Given the description of an element on the screen output the (x, y) to click on. 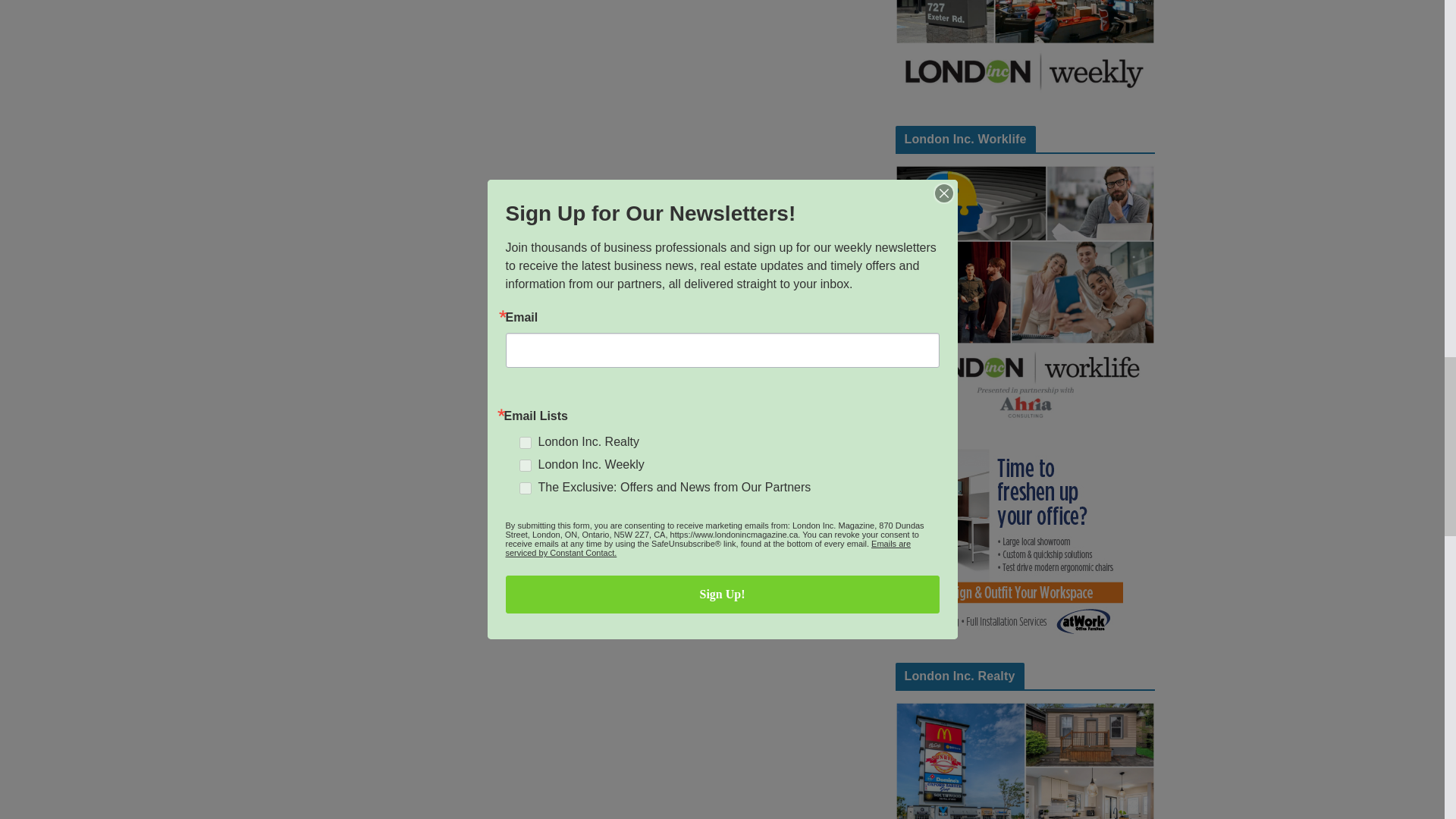
London Inc. Worklife (1024, 295)
London Inc. Weekly (1024, 50)
London Inc. Realty (1024, 760)
